Given the description of an element on the screen output the (x, y) to click on. 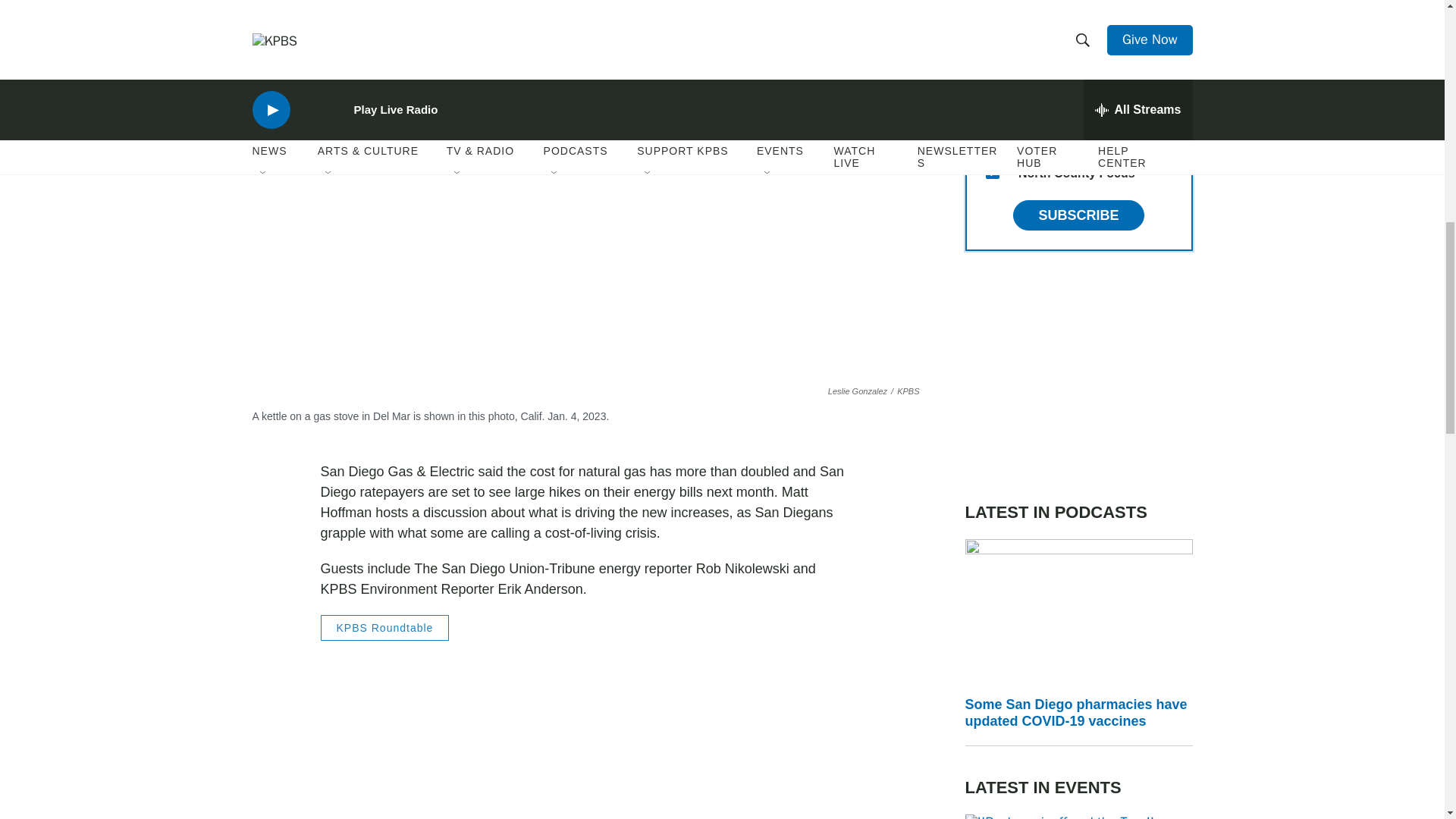
1 (991, 99)
15 (991, 172)
6 (991, 26)
2 (991, 62)
8 (991, 135)
